Given the description of an element on the screen output the (x, y) to click on. 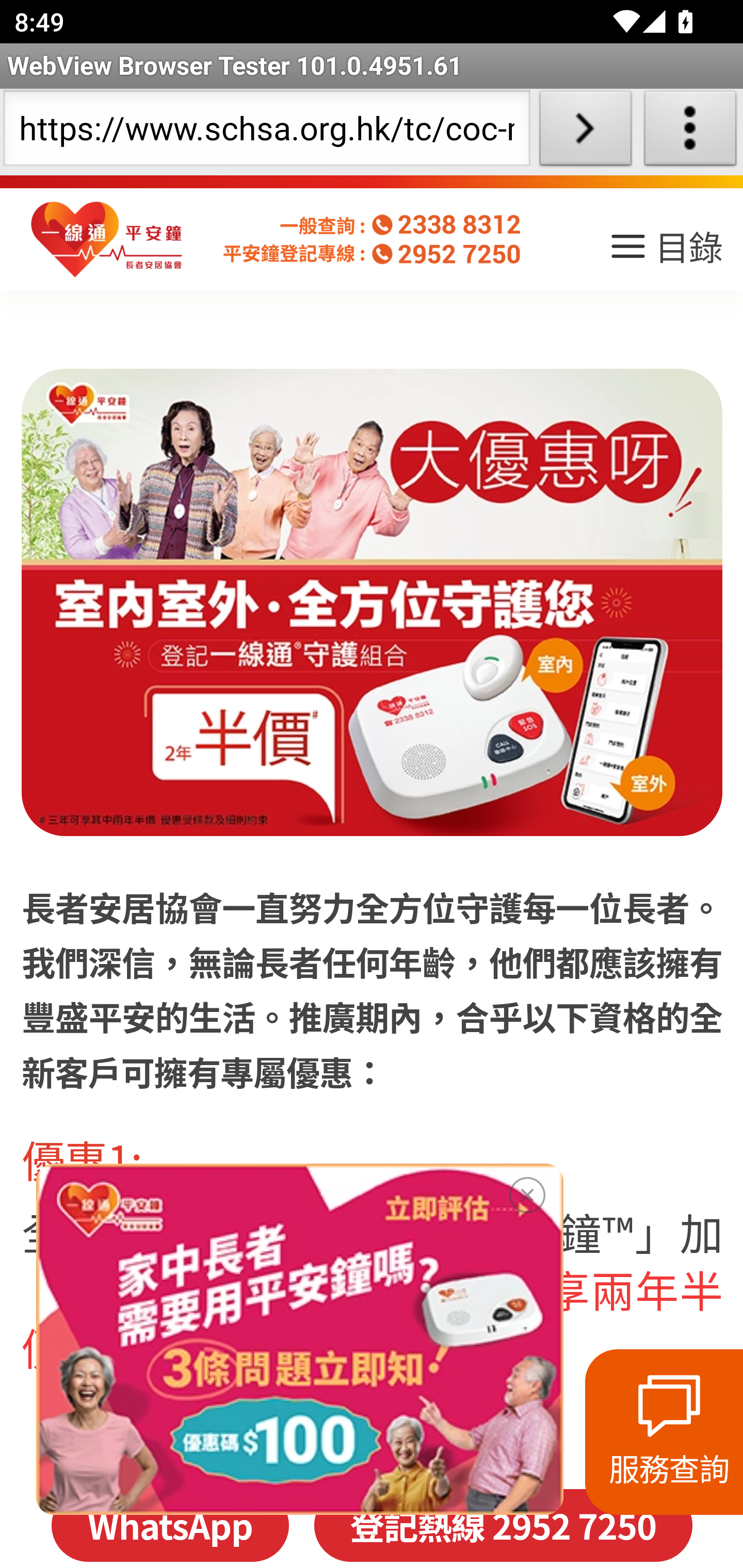
Load URL (585, 132)
About WebView (690, 132)
homepage (107, 240)
目錄 (665, 252)
Dec Coupon Code Allsize Popup 300x200 Yescta (299, 1338)
site.close (526, 1191)
服務查詢 (664, 1432)
